Given the description of an element on the screen output the (x, y) to click on. 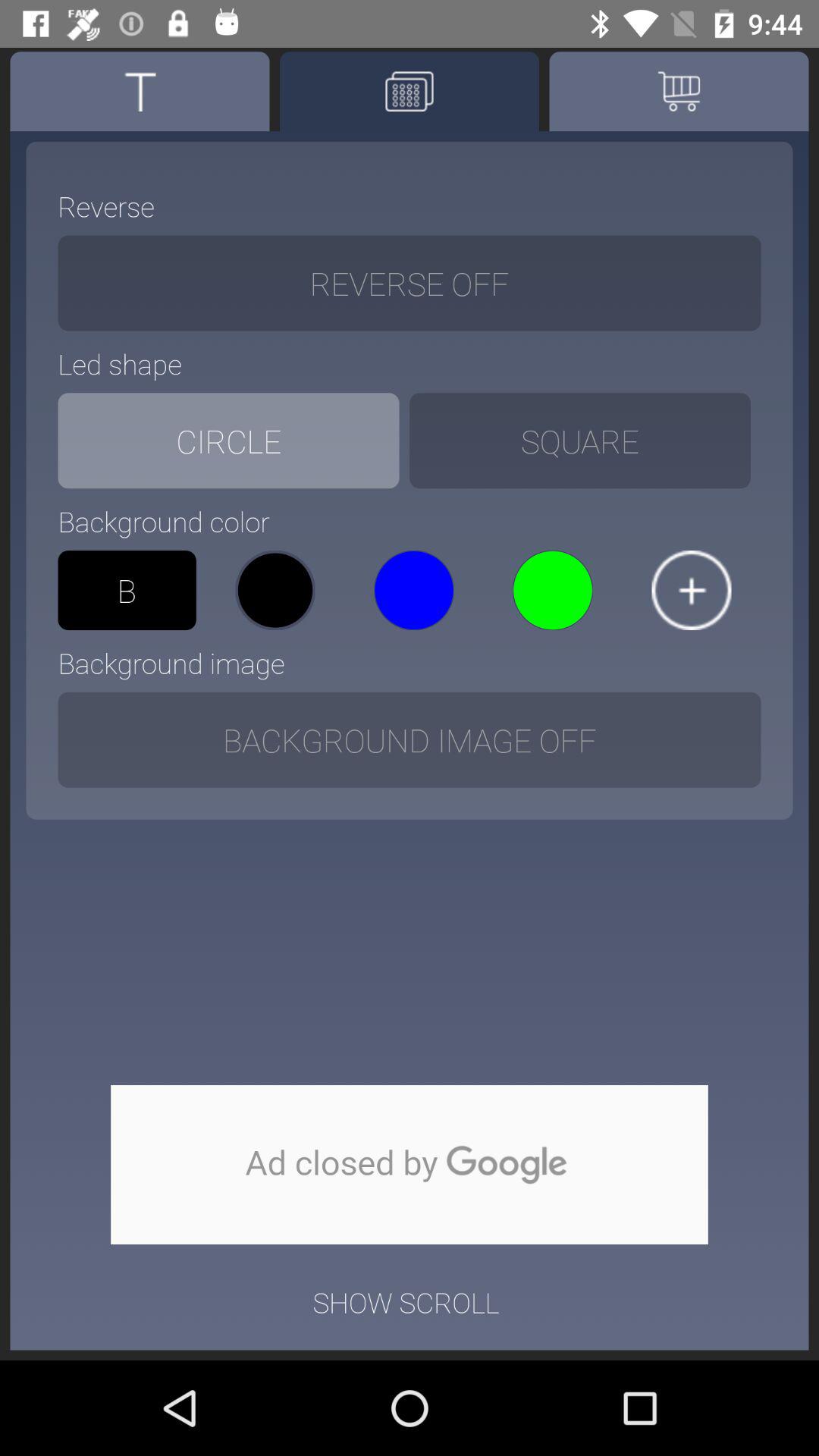
shows plus symbol (691, 590)
